Given the description of an element on the screen output the (x, y) to click on. 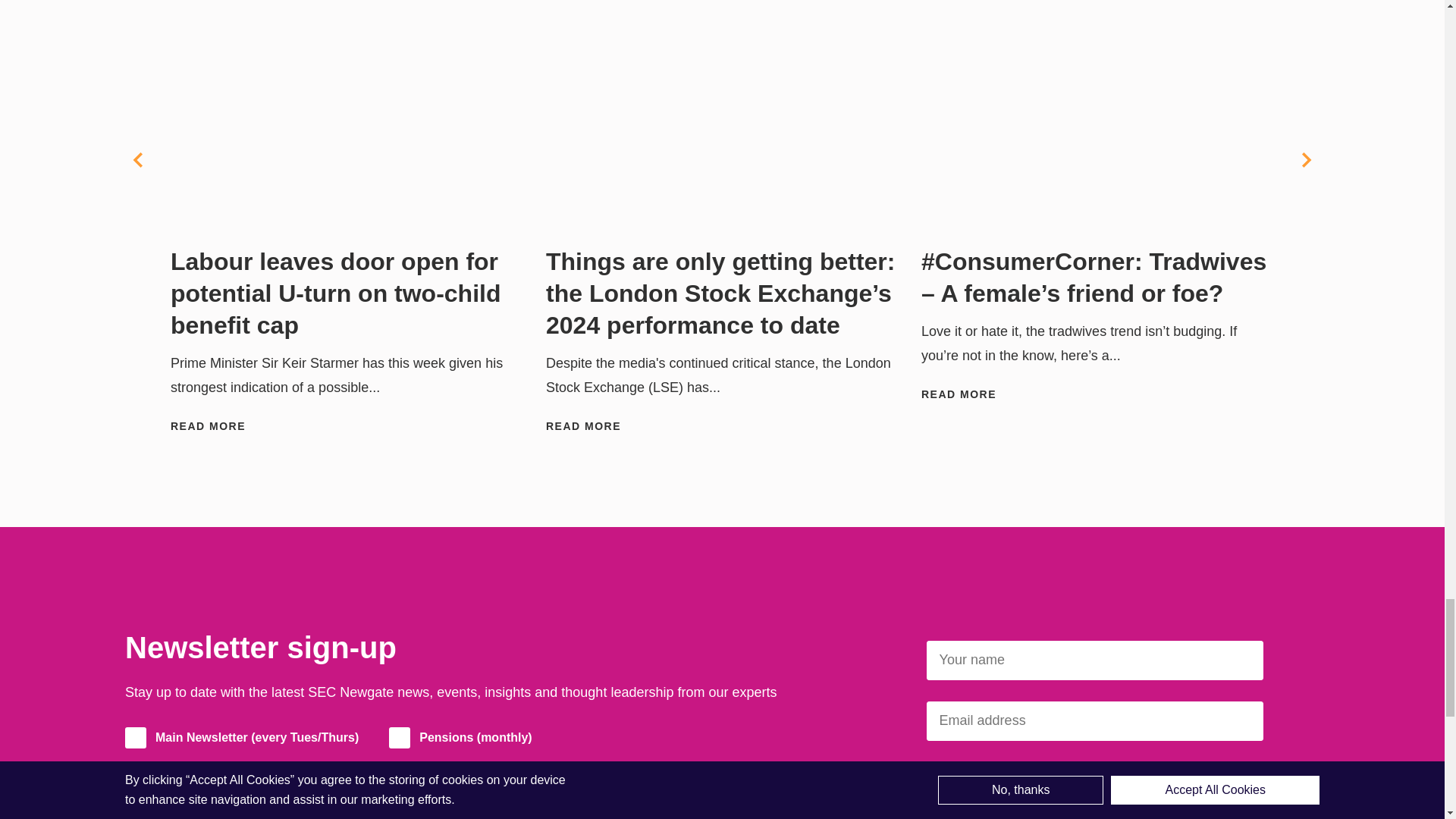
esg (136, 773)
pensions (399, 737)
